Given the description of an element on the screen output the (x, y) to click on. 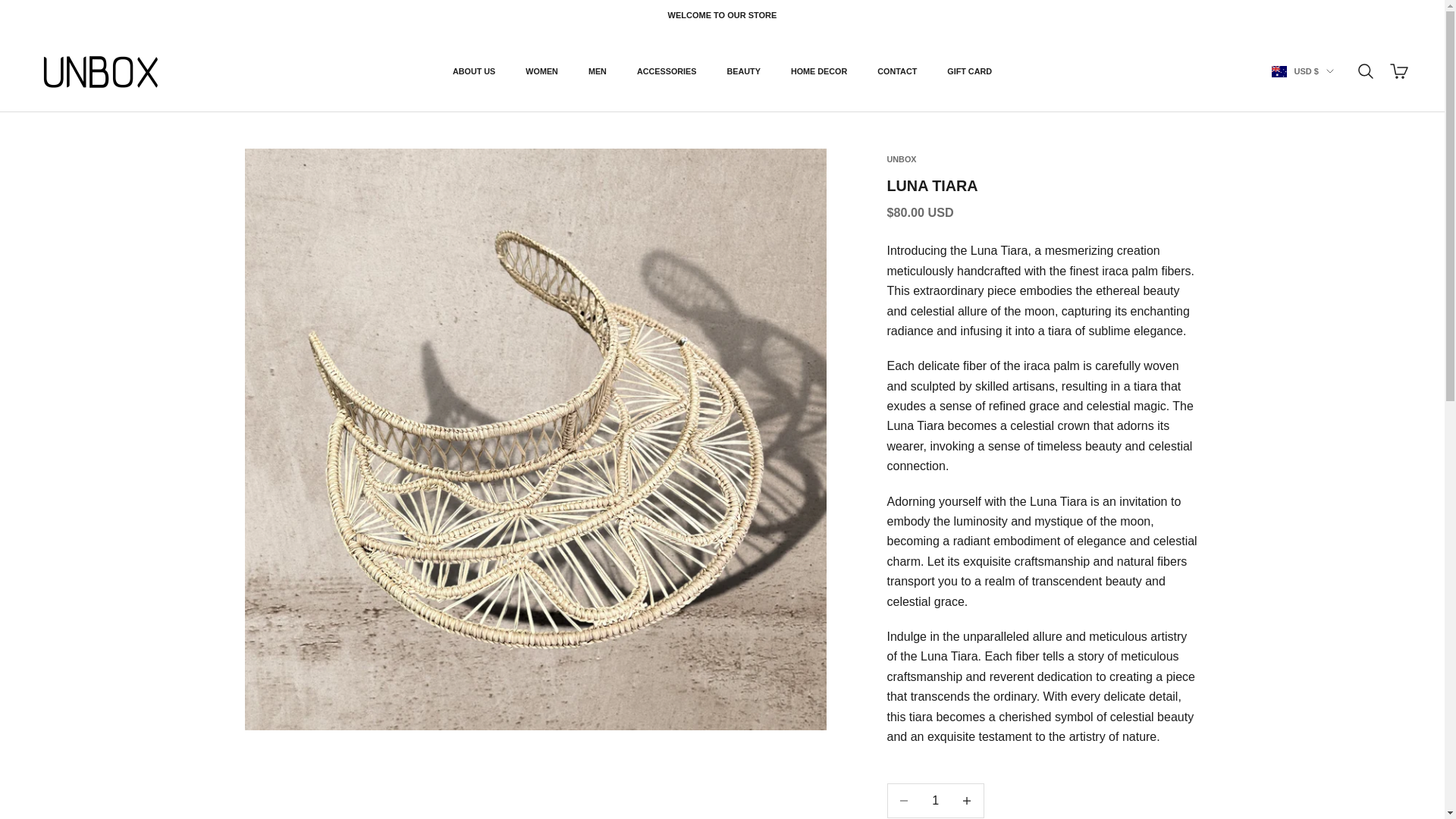
CONTACT (897, 70)
HOME DECOR (818, 70)
GIFT CARD (969, 70)
1 (935, 800)
ABOUT US (473, 70)
UNBOX (100, 71)
